Given the description of an element on the screen output the (x, y) to click on. 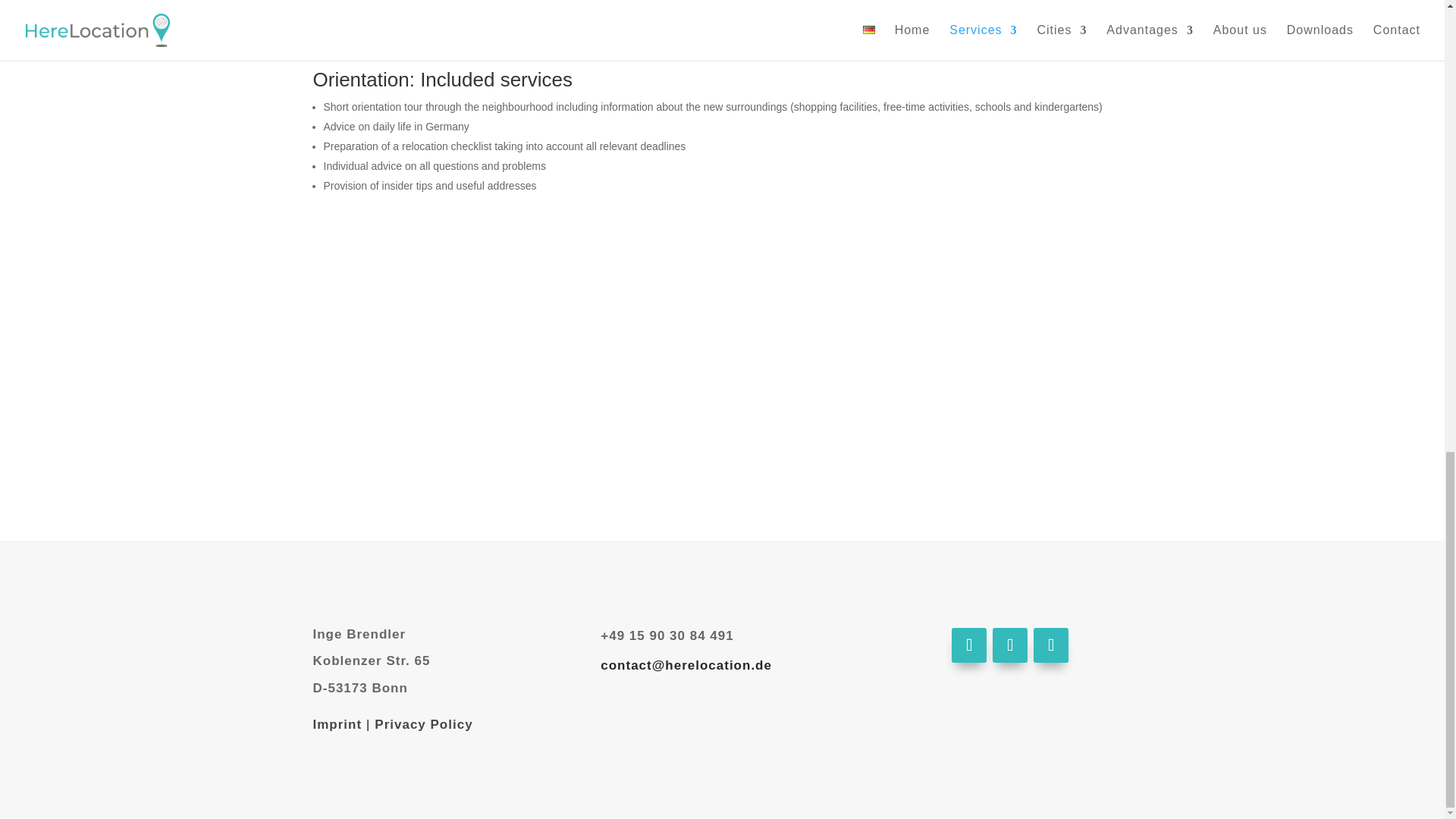
Privacy Policy (422, 724)
Follow on Facebook (969, 645)
Follow on XING (1050, 645)
Follow on LinkedIn (1009, 645)
Imprint (337, 724)
